Given the description of an element on the screen output the (x, y) to click on. 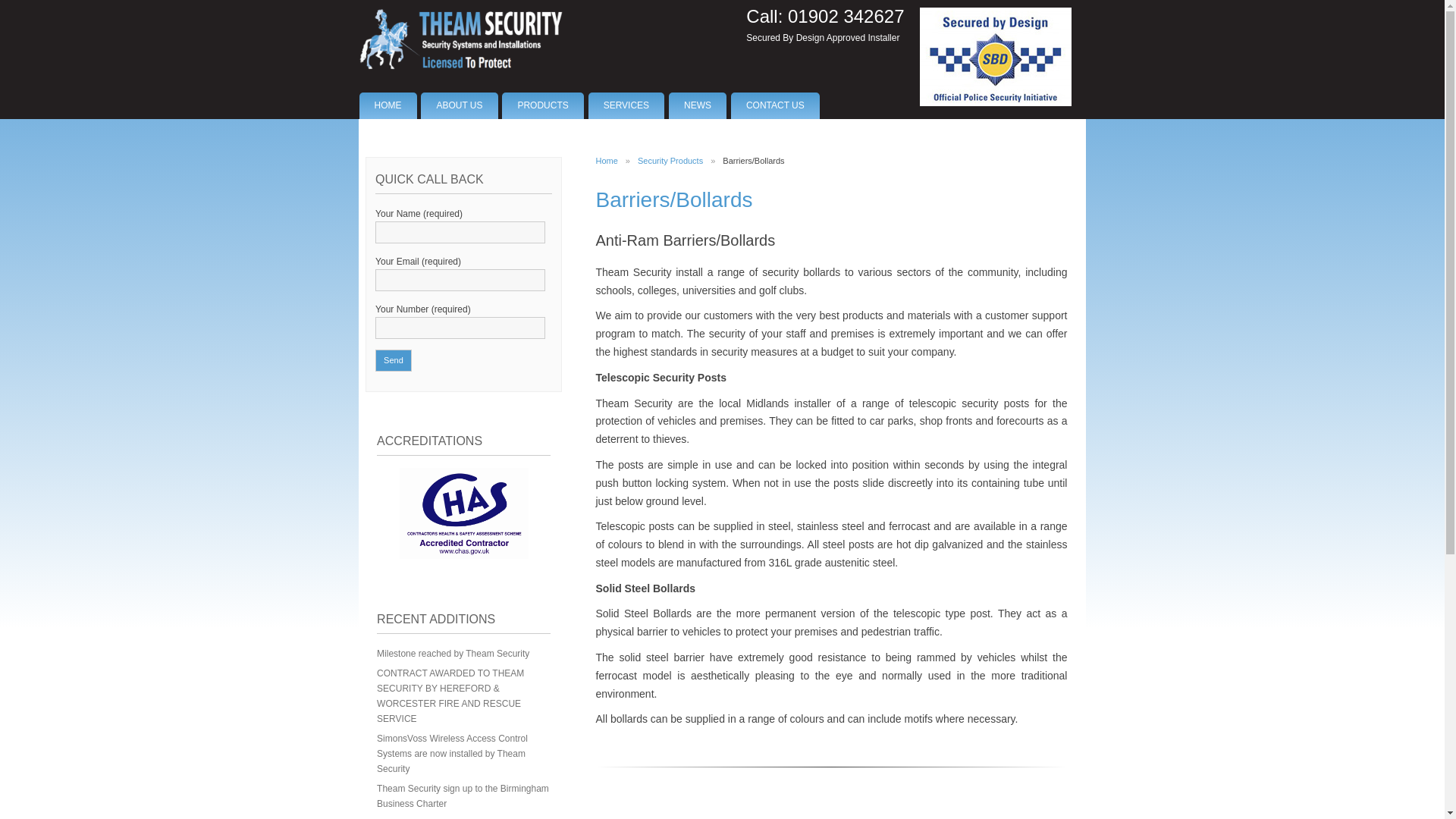
Theam Security sign up to the Birmingham Business Charter (462, 795)
SERVICES (625, 105)
Milestone reached by Theam Security (453, 653)
Skip to content (626, 86)
Security Products (670, 160)
Send (393, 360)
Theam Security (460, 39)
CONTACT US (774, 105)
Send (393, 360)
HOME (387, 105)
Skip To Content (626, 86)
NEWS (697, 105)
PRODUCTS (542, 105)
Home (606, 160)
